Given the description of an element on the screen output the (x, y) to click on. 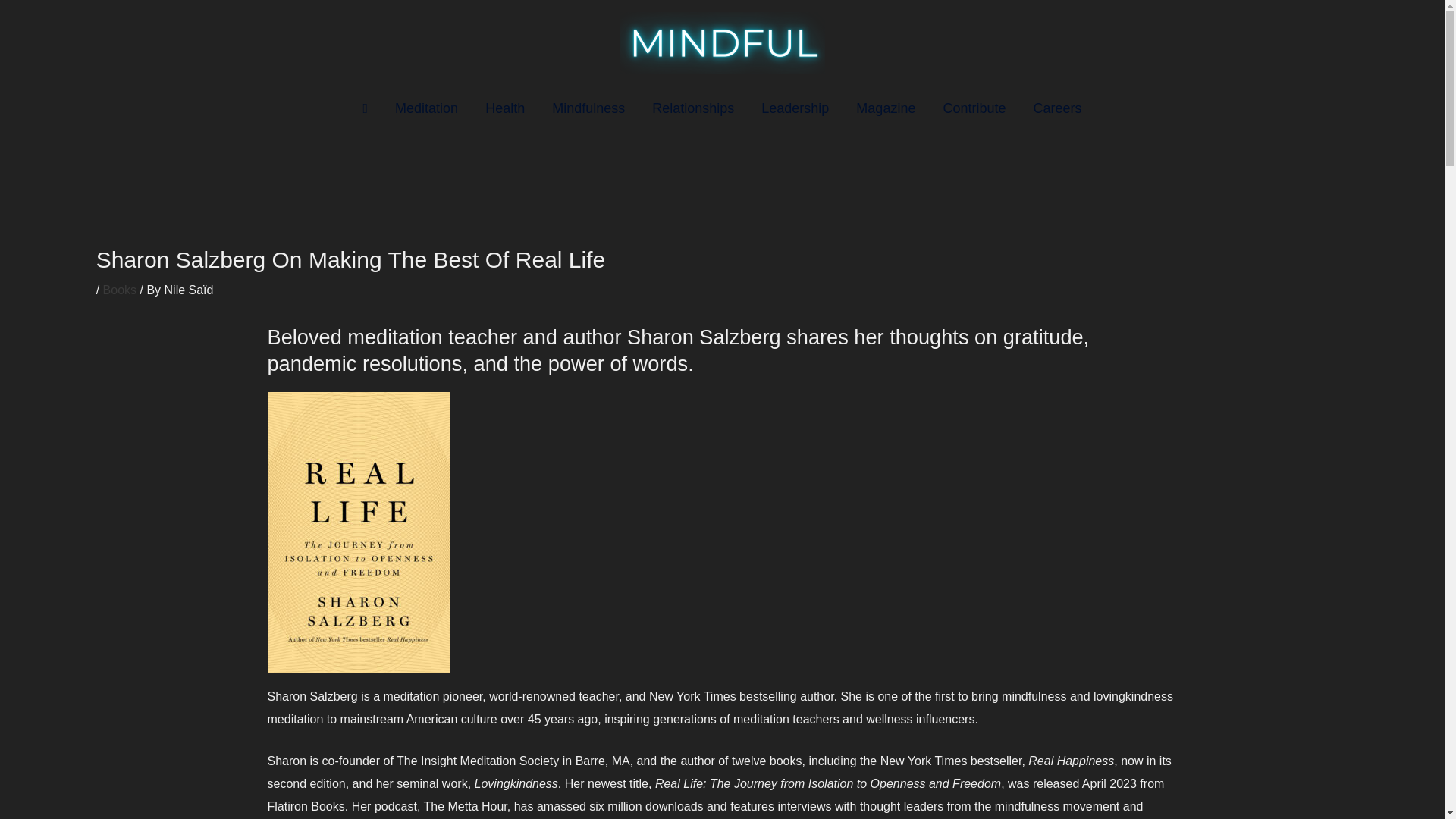
Books (119, 289)
